Given the description of an element on the screen output the (x, y) to click on. 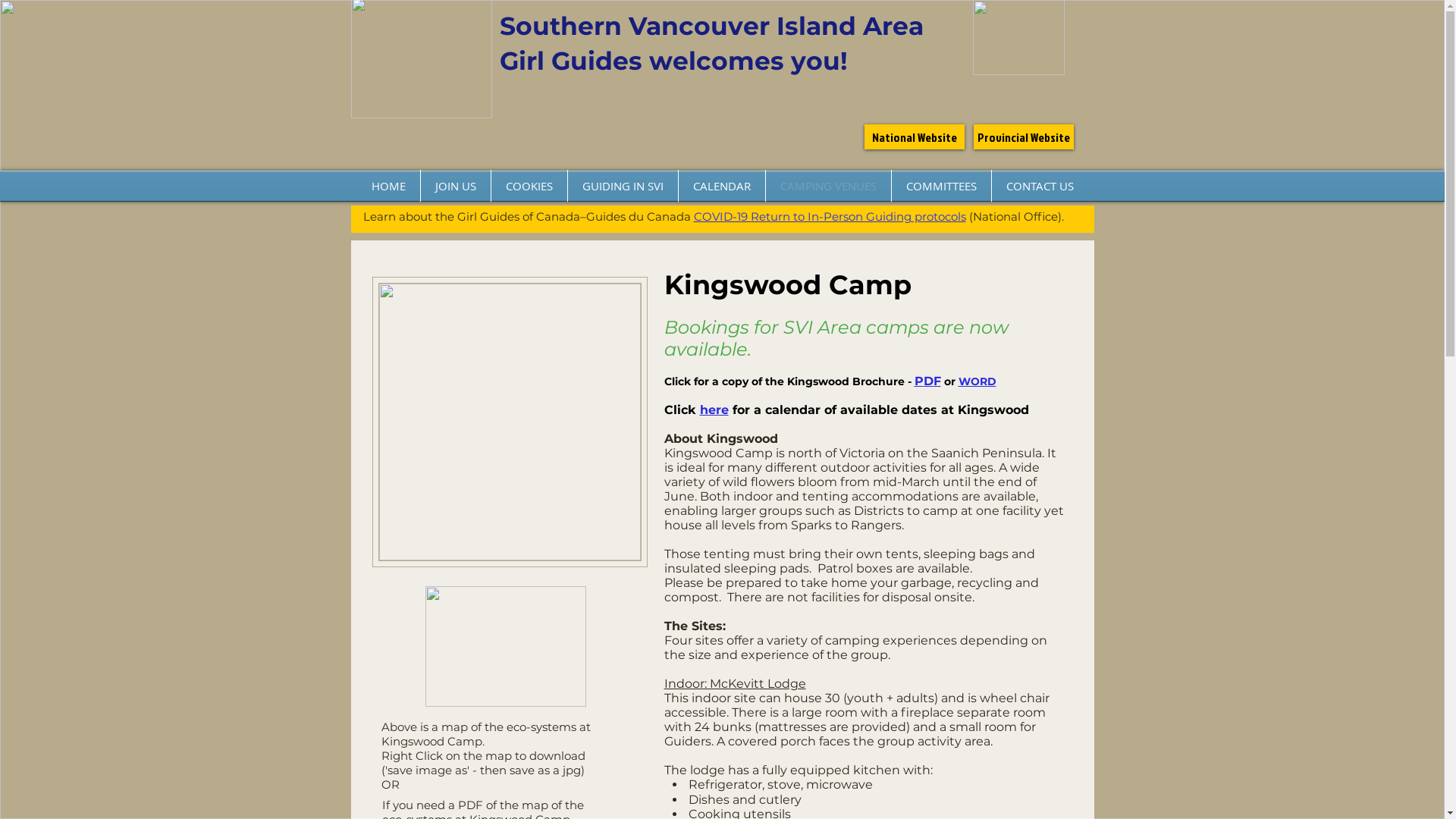
Return to In-Person Guiding protocols ( Element type: text (861, 216)
. Element type: text (1062, 216)
GUIDING IN SVI Element type: text (622, 185)
COOKIES Element type: text (529, 185)
HOME Element type: text (387, 185)
CONTACT US Element type: text (1039, 185)
here Element type: text (713, 410)
COMMITTEES Element type: text (941, 185)
National Office) Element type: text (1016, 216)
CALENDAR Element type: text (720, 185)
National Website Element type: text (914, 136)
WORD Element type: text (977, 381)
PDF Element type: text (927, 381)
CAMPING VENUES Element type: text (828, 185)
Provincial Website Element type: text (1023, 136)
Site Search Element type: hover (1170, 21)
JOIN US Element type: text (454, 185)
